Given the description of an element on the screen output the (x, y) to click on. 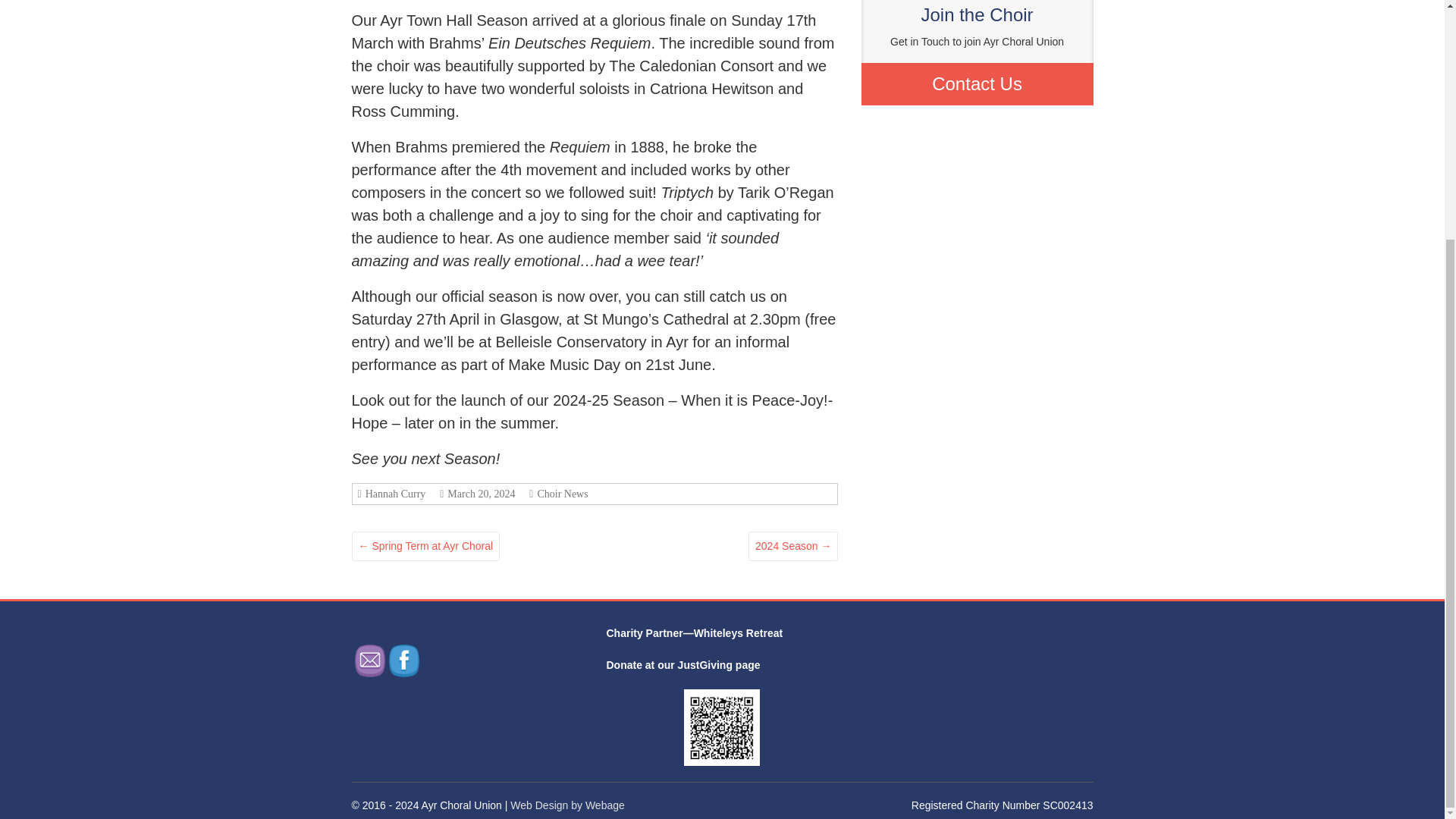
Contact Us (976, 83)
Contact Us (976, 83)
March 20, 2024 (479, 493)
Web Design by Webage (567, 805)
6:20 pm (479, 493)
Facebook (403, 660)
Follow by Email (370, 660)
Choir News (560, 493)
Hannah Curry (393, 493)
